Given the description of an element on the screen output the (x, y) to click on. 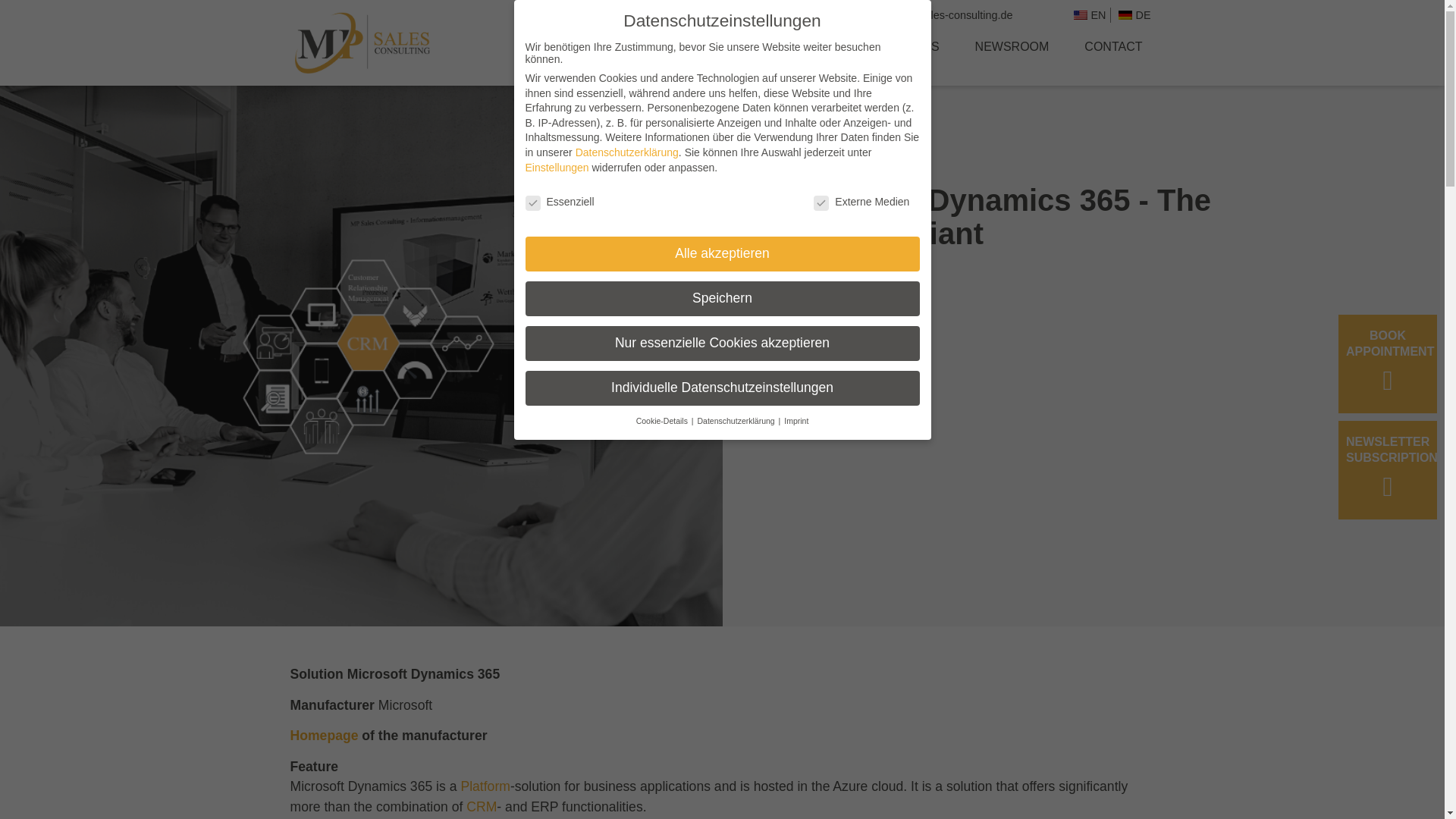
DE (1131, 14)
German (1124, 14)
BOOK APPOINTMENT (1387, 363)
NEWSROOM (1012, 46)
EN (1087, 14)
NEWSLETTER SUBSCRIPTION (1387, 469)
REFERENCES (897, 46)
English (1080, 14)
CONTACT (1112, 46)
